Given the description of an element on the screen output the (x, y) to click on. 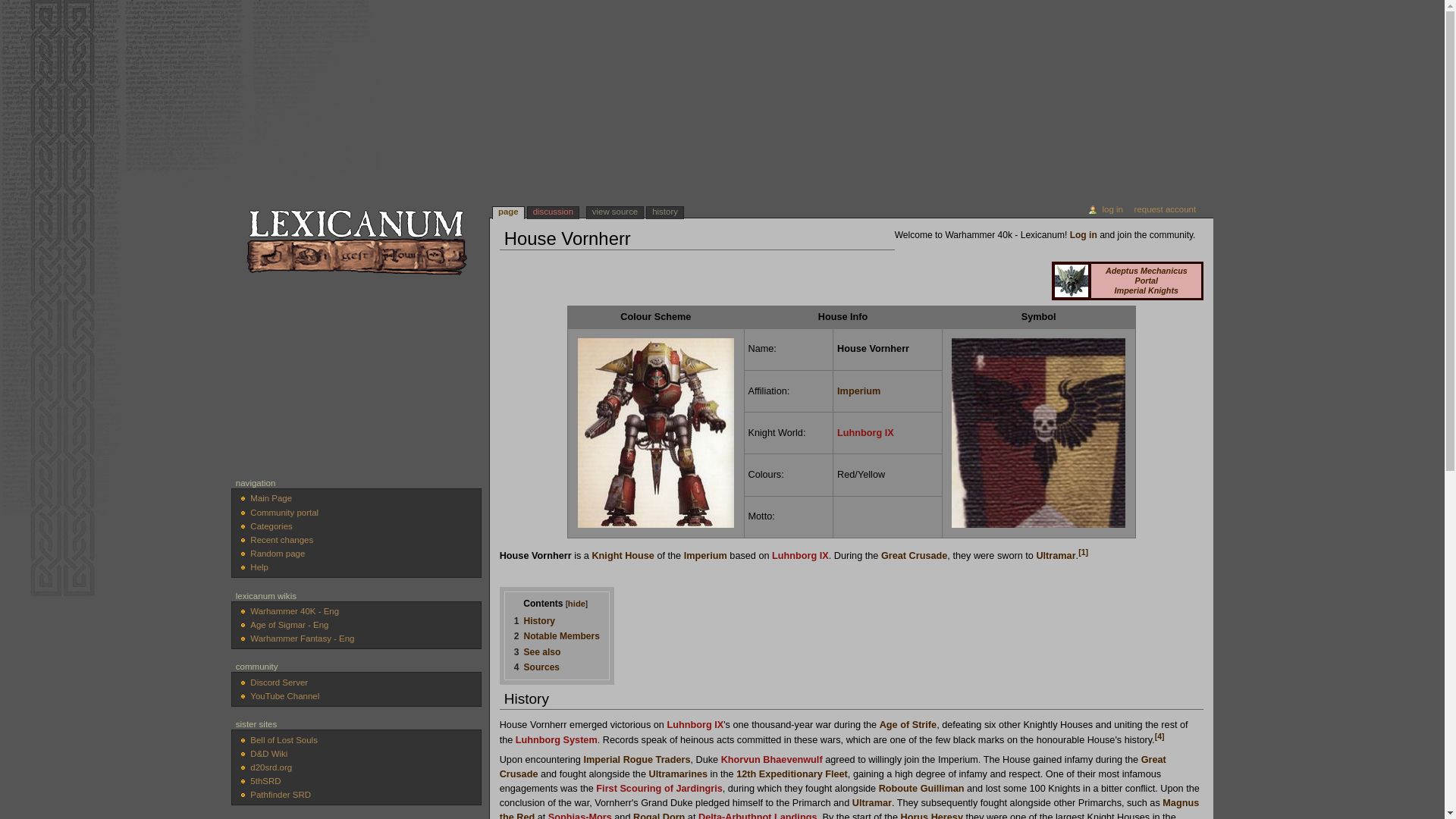
Knight House (622, 555)
Luhnborg IX (799, 555)
1 History (533, 620)
First Scouring of Jardingris (658, 787)
Luhnborg IX (865, 432)
Sophias-Mors (579, 815)
12th Expeditionary Fleet (791, 774)
Age of Strife (907, 724)
4 Sources (536, 666)
Age of Strife (907, 724)
Rogue Traders (656, 759)
Imperial (601, 759)
Ultramarines (678, 774)
Horus Heresy (930, 815)
Ultramarines (678, 774)
